Given the description of an element on the screen output the (x, y) to click on. 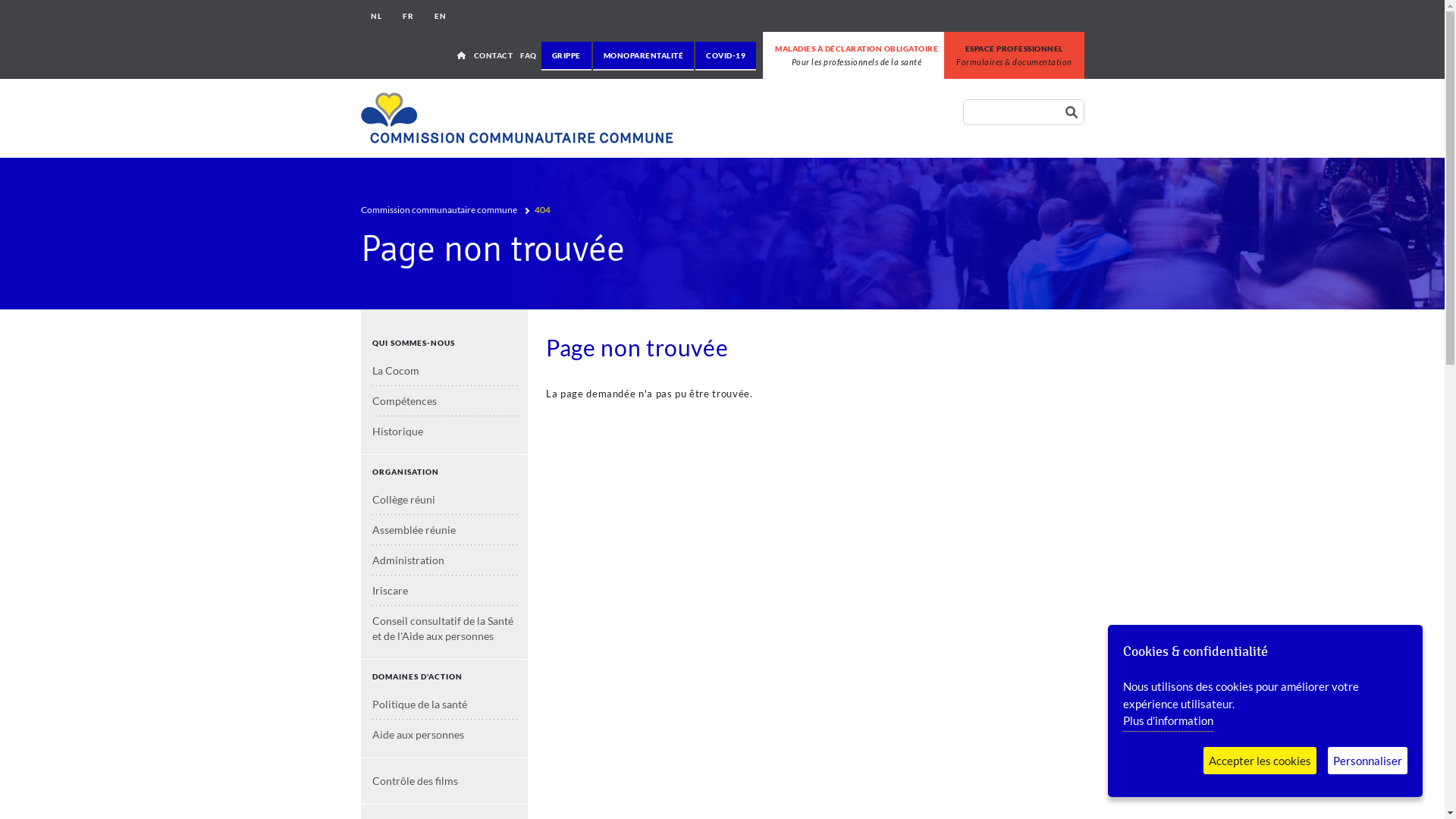
Iriscare Element type: text (445, 590)
Rechercher Element type: text (1074, 112)
La Cocom Element type: text (445, 370)
CONTACT Element type: text (493, 55)
ESPACE PROFESSIONNEL
Formulaires & documentation Element type: text (1014, 54)
COVID-19 Element type: text (725, 54)
Plus d'information Element type: text (1168, 721)
FAQ Element type: text (528, 55)
GRIPPE Element type: text (566, 54)
Administration Element type: text (445, 560)
Historique Element type: text (445, 431)
Aide aux personnes Element type: text (445, 734)
ACCUEIL Element type: text (461, 55)
Accepter les cookies Element type: text (1259, 760)
Personnaliser Element type: text (1367, 760)
Commission communautaire commune Element type: text (438, 209)
